Given the description of an element on the screen output the (x, y) to click on. 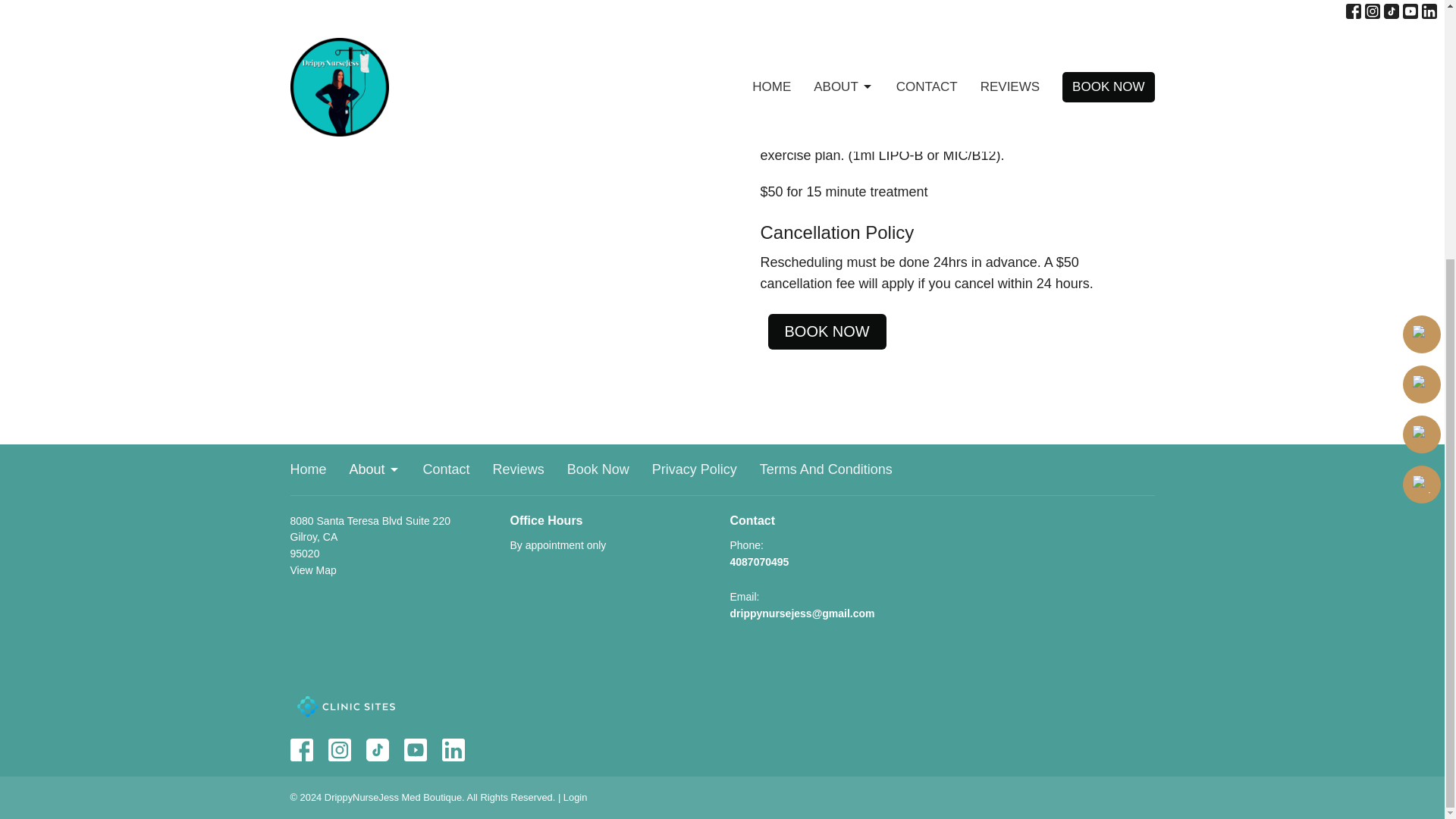
Home (307, 469)
Contact (446, 469)
Reviews (518, 469)
About (374, 469)
BOOK NOW (826, 331)
Book Now (597, 469)
